Given the description of an element on the screen output the (x, y) to click on. 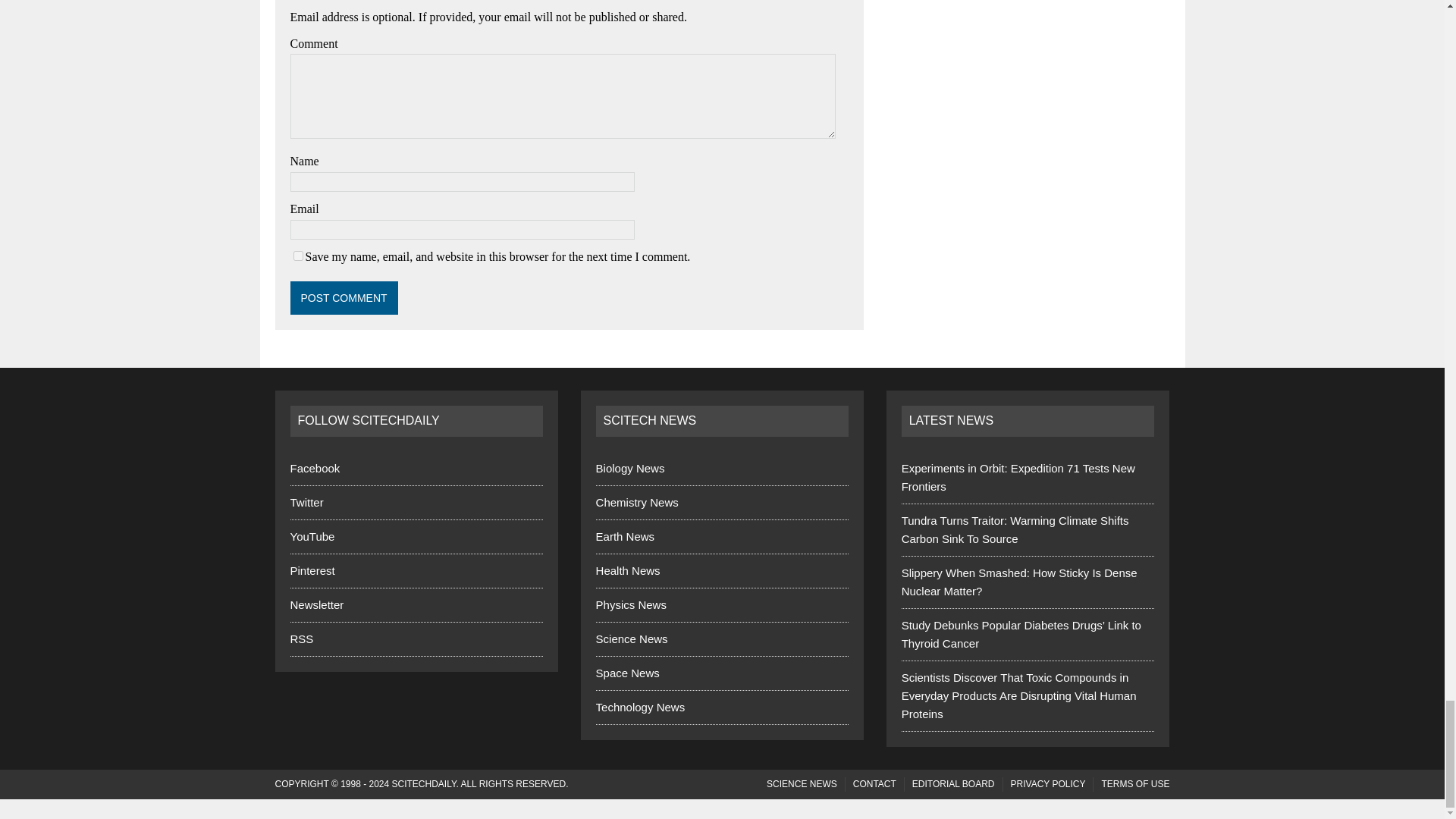
yes (297, 255)
Post Comment (343, 297)
